Given the description of an element on the screen output the (x, y) to click on. 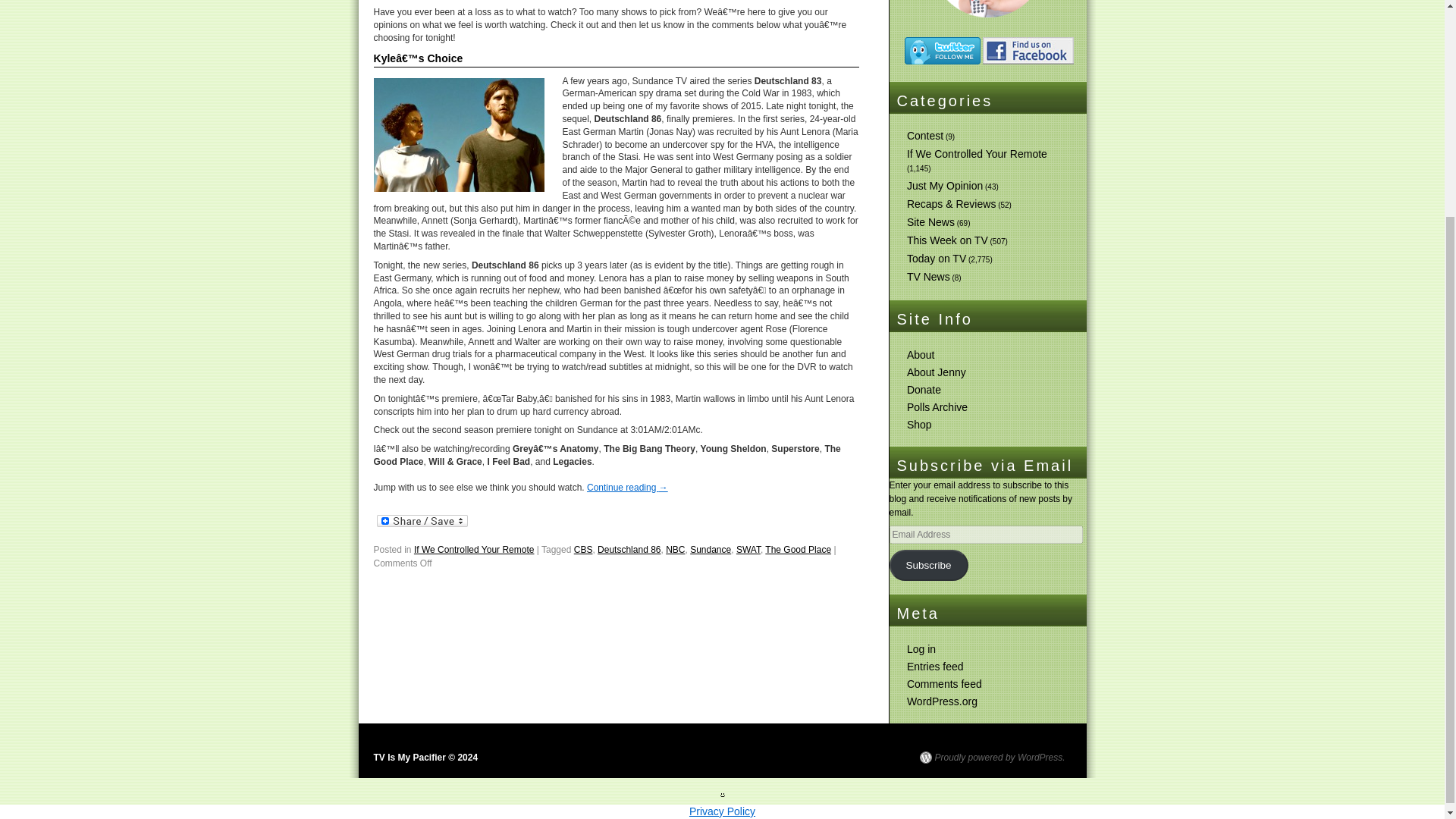
TV Is My Pacifier (424, 757)
If We Controlled Your Remote (976, 153)
If We Controlled Your Remote (473, 549)
Contest (925, 135)
NBC (674, 549)
Sundance (710, 549)
Donate (923, 389)
CBS (582, 549)
Polls Archive (937, 407)
Deutschland 86 (628, 549)
Site News (931, 222)
About Jenny (936, 372)
SWAT (748, 549)
Just My Opinion (944, 185)
The Good Place (798, 549)
